Given the description of an element on the screen output the (x, y) to click on. 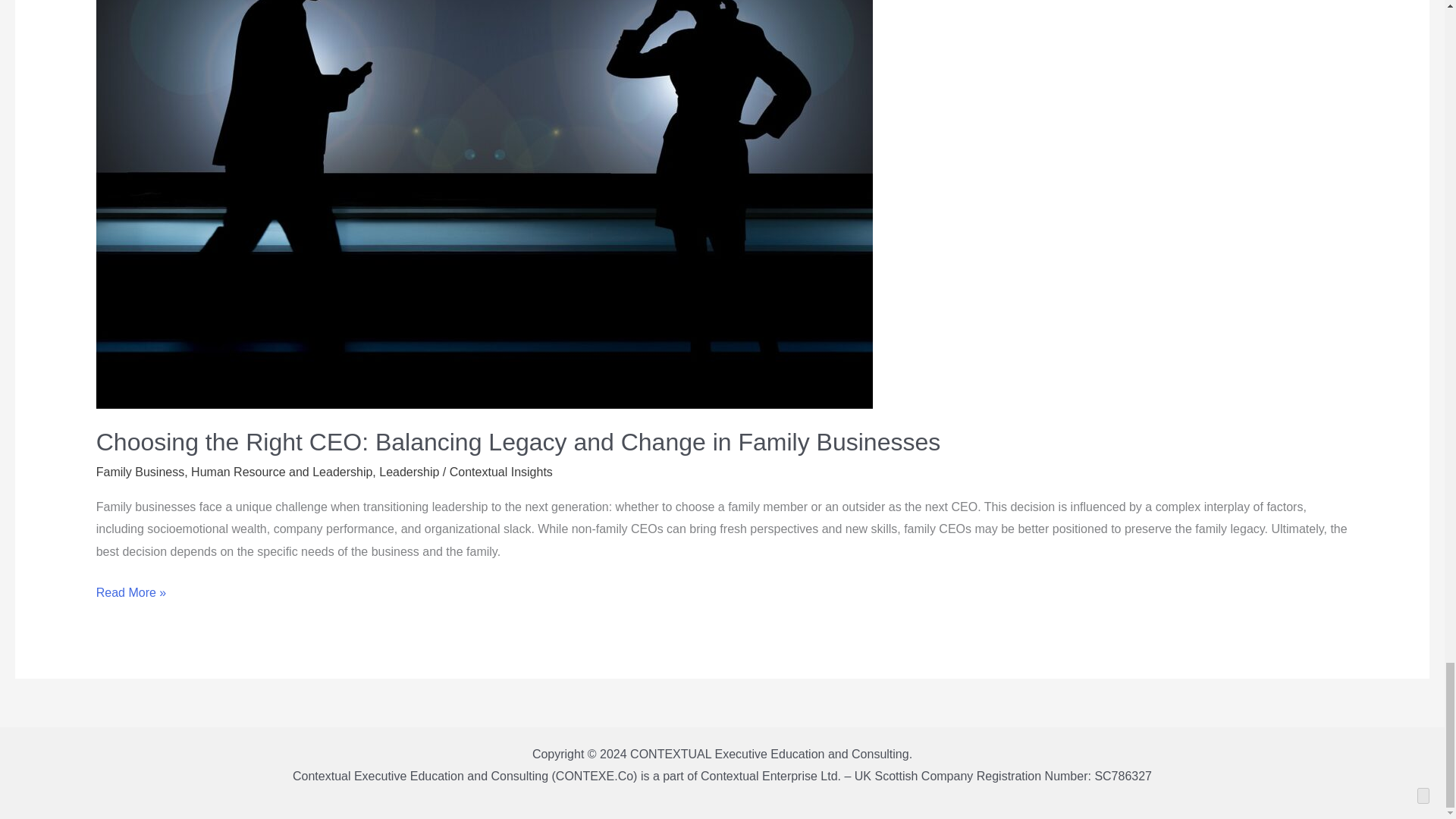
View all posts by Contextual Insights (501, 472)
